Given the description of an element on the screen output the (x, y) to click on. 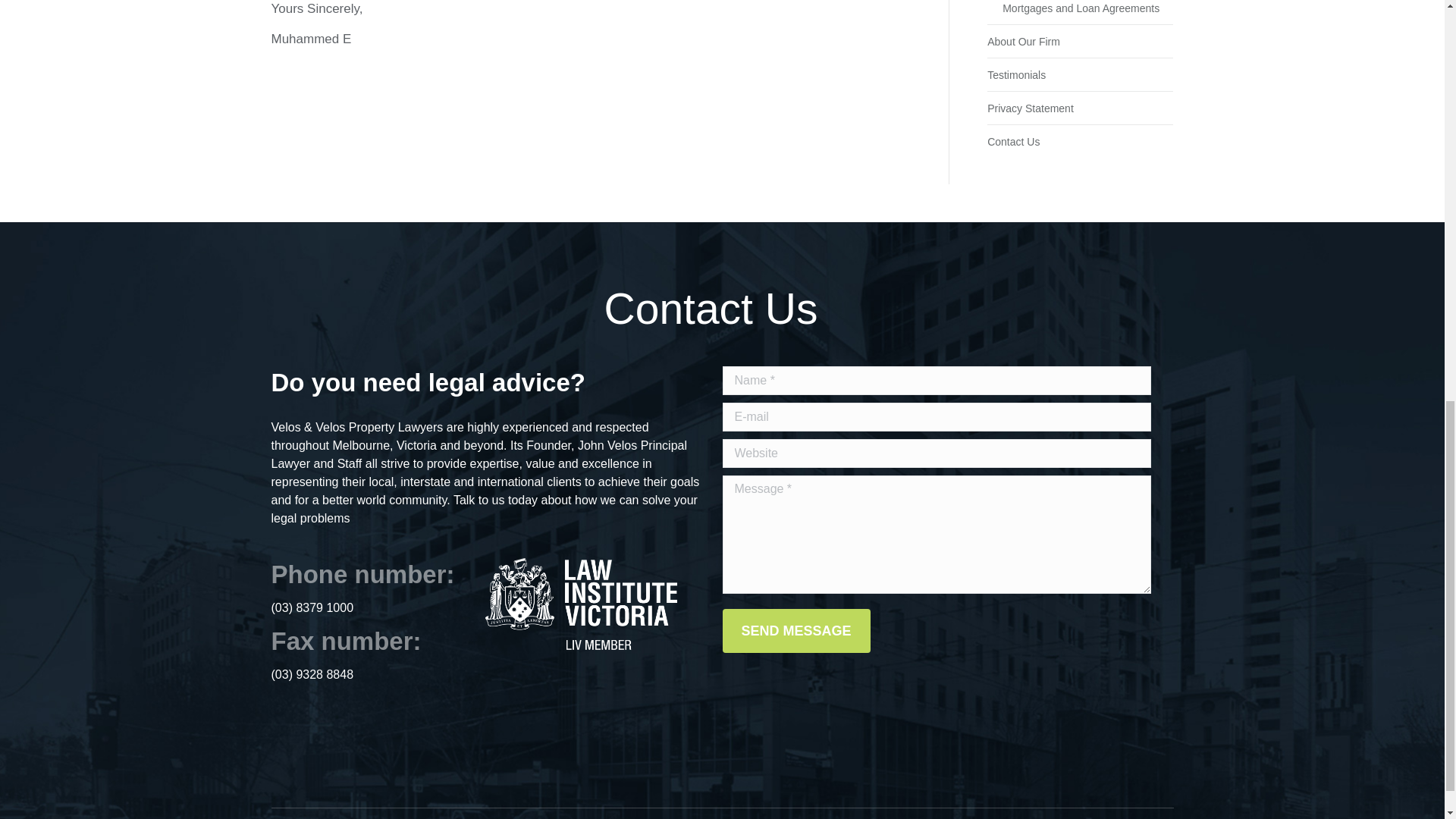
submit (1103, 624)
